Given the description of an element on the screen output the (x, y) to click on. 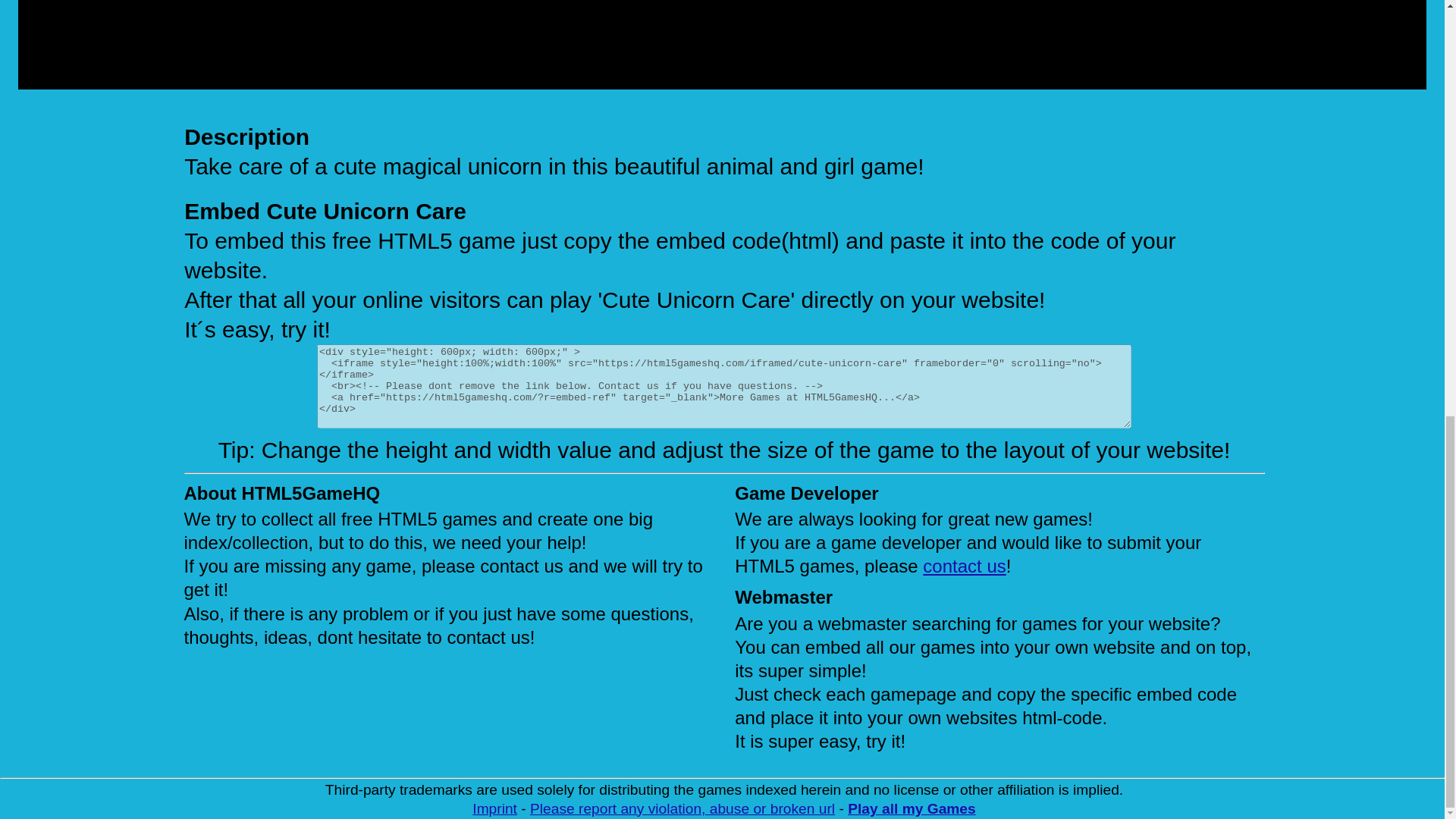
Please report any violation, abuse or broken url (681, 808)
contact us (964, 566)
Play all my Games (911, 808)
Imprint (493, 808)
